Given the description of an element on the screen output the (x, y) to click on. 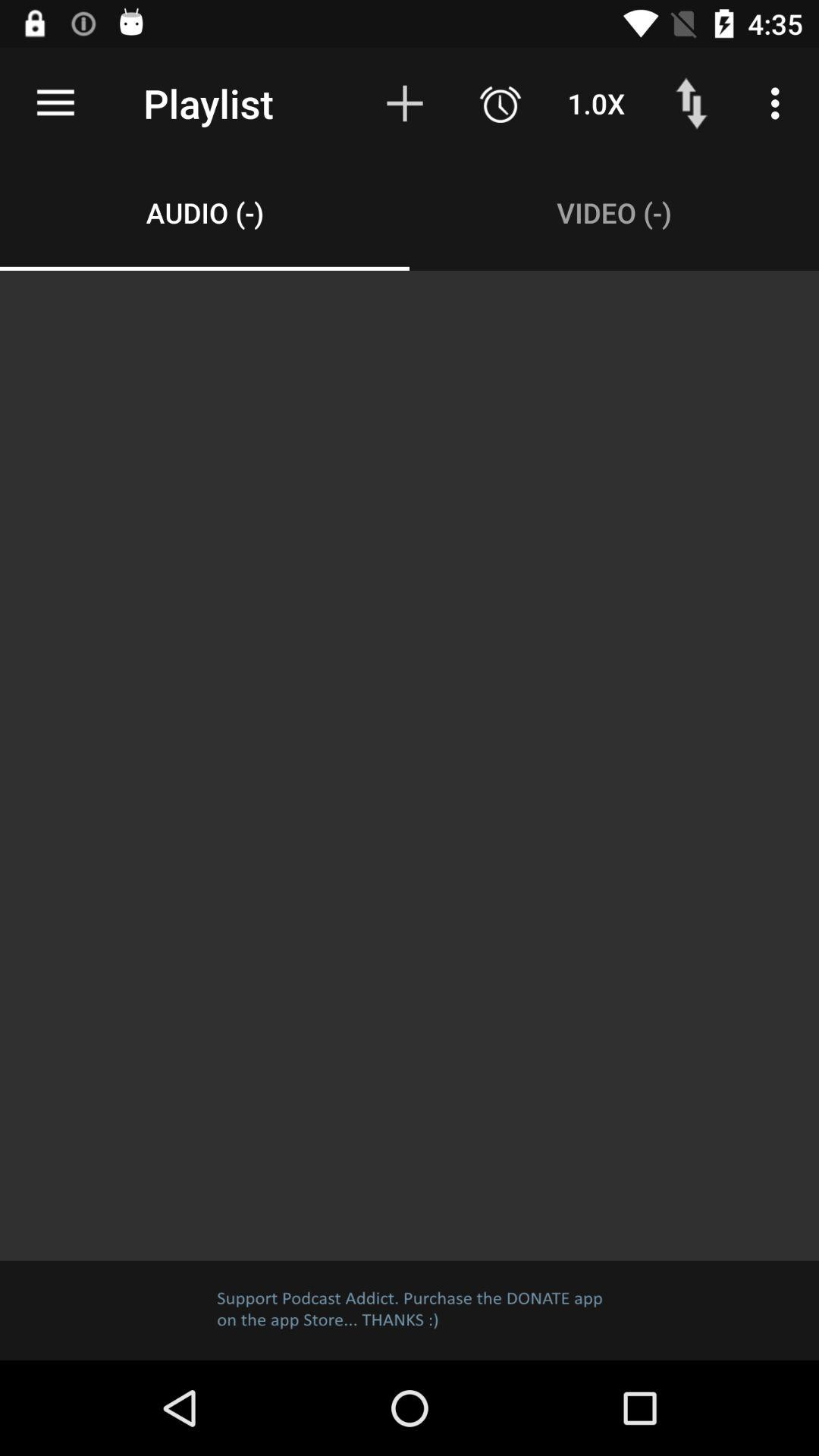
press the item above video (-) (595, 103)
